Given the description of an element on the screen output the (x, y) to click on. 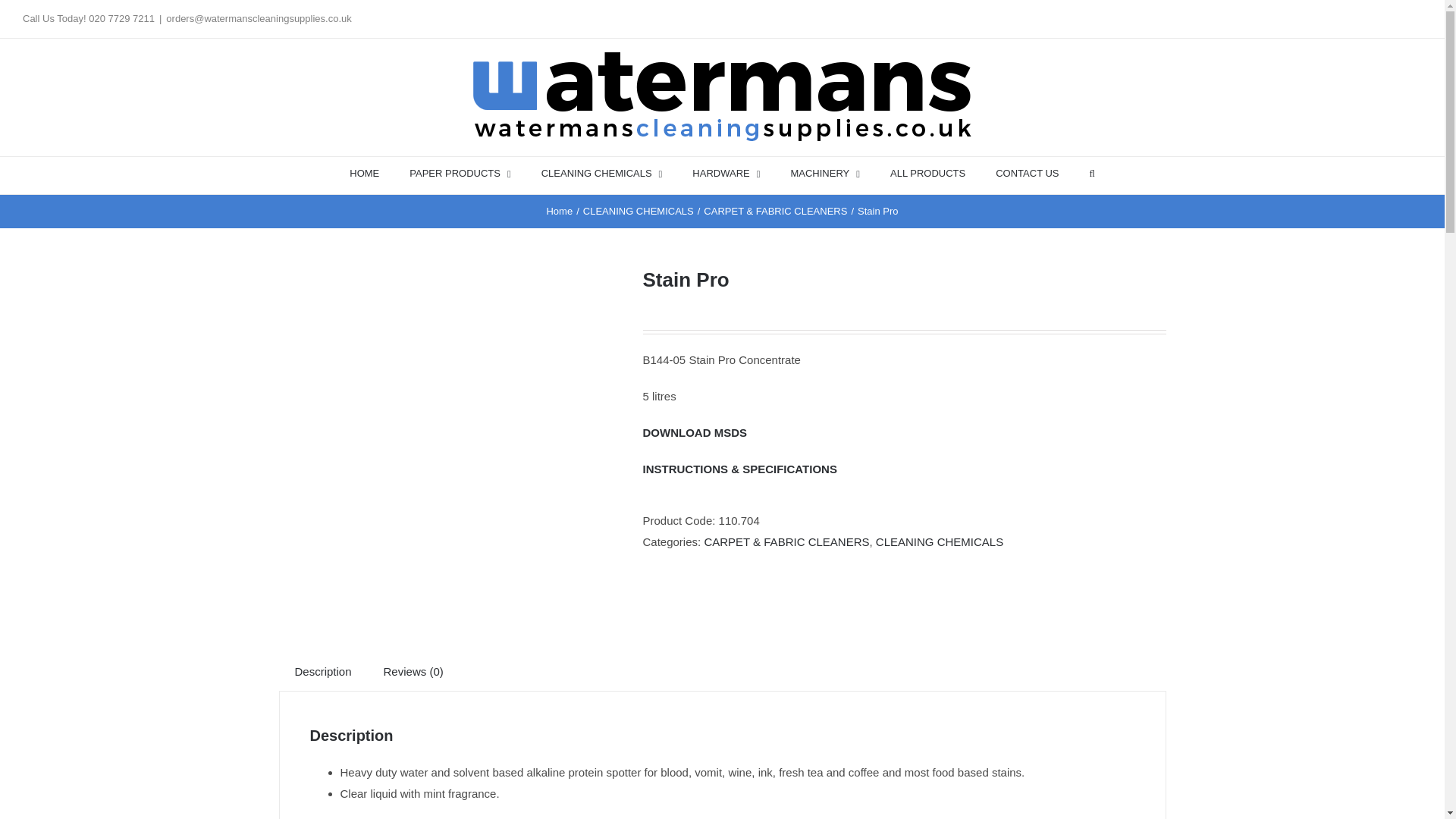
PAPER PRODUCTS (460, 172)
HARDWARE (726, 172)
CLEANING CHEMICALS (601, 172)
HOME (363, 172)
